Given the description of an element on the screen output the (x, y) to click on. 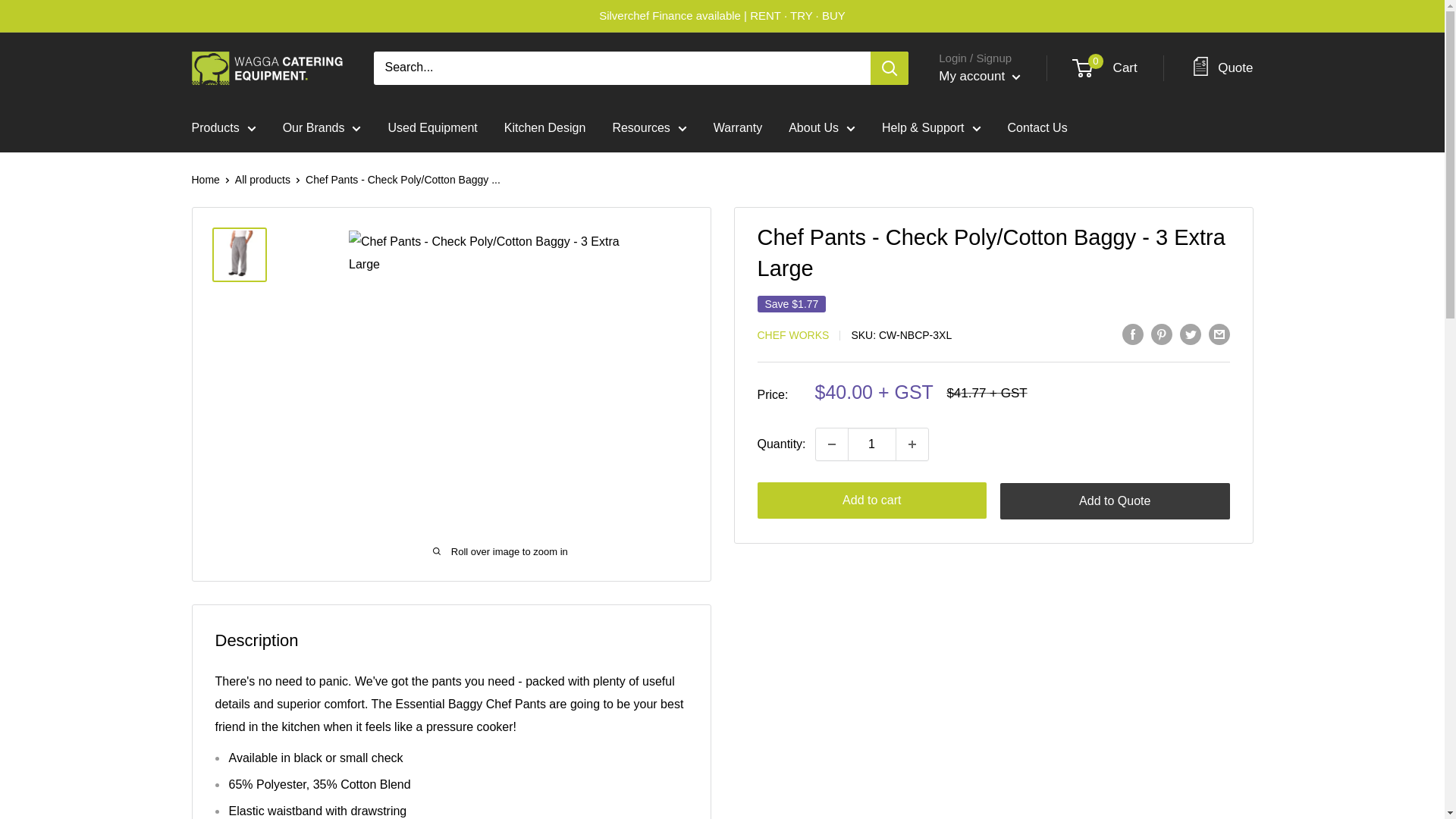
Increase quantity by 1 (912, 444)
1 (871, 444)
Decrease quantity by 1 (831, 444)
